Given the description of an element on the screen output the (x, y) to click on. 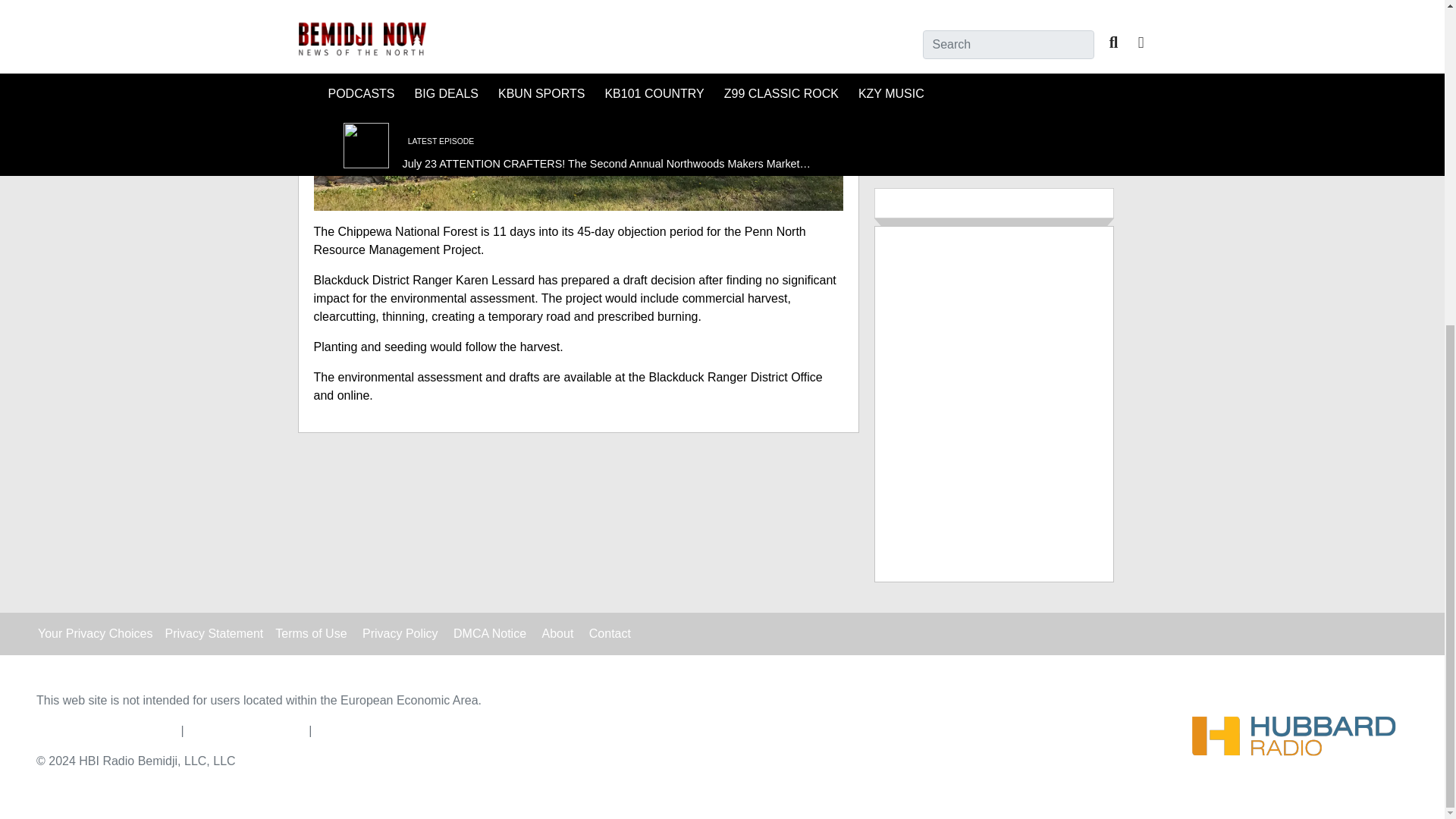
Terms of Use (310, 633)
online (353, 395)
MORE (993, 120)
Privacy Statement (213, 633)
Your Privacy Choices (94, 633)
